Given the description of an element on the screen output the (x, y) to click on. 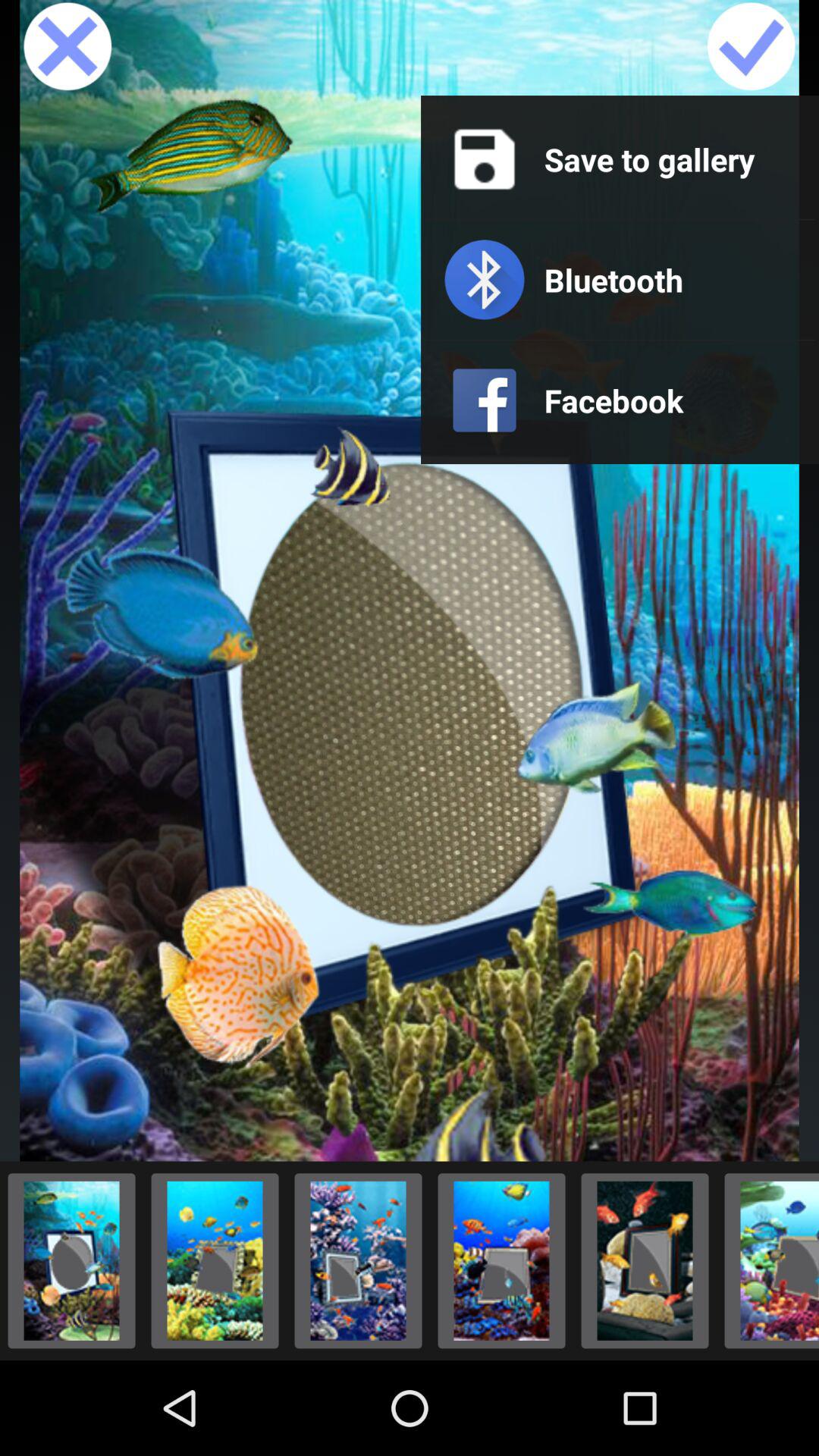
view wallpaper image (214, 1260)
